Given the description of an element on the screen output the (x, y) to click on. 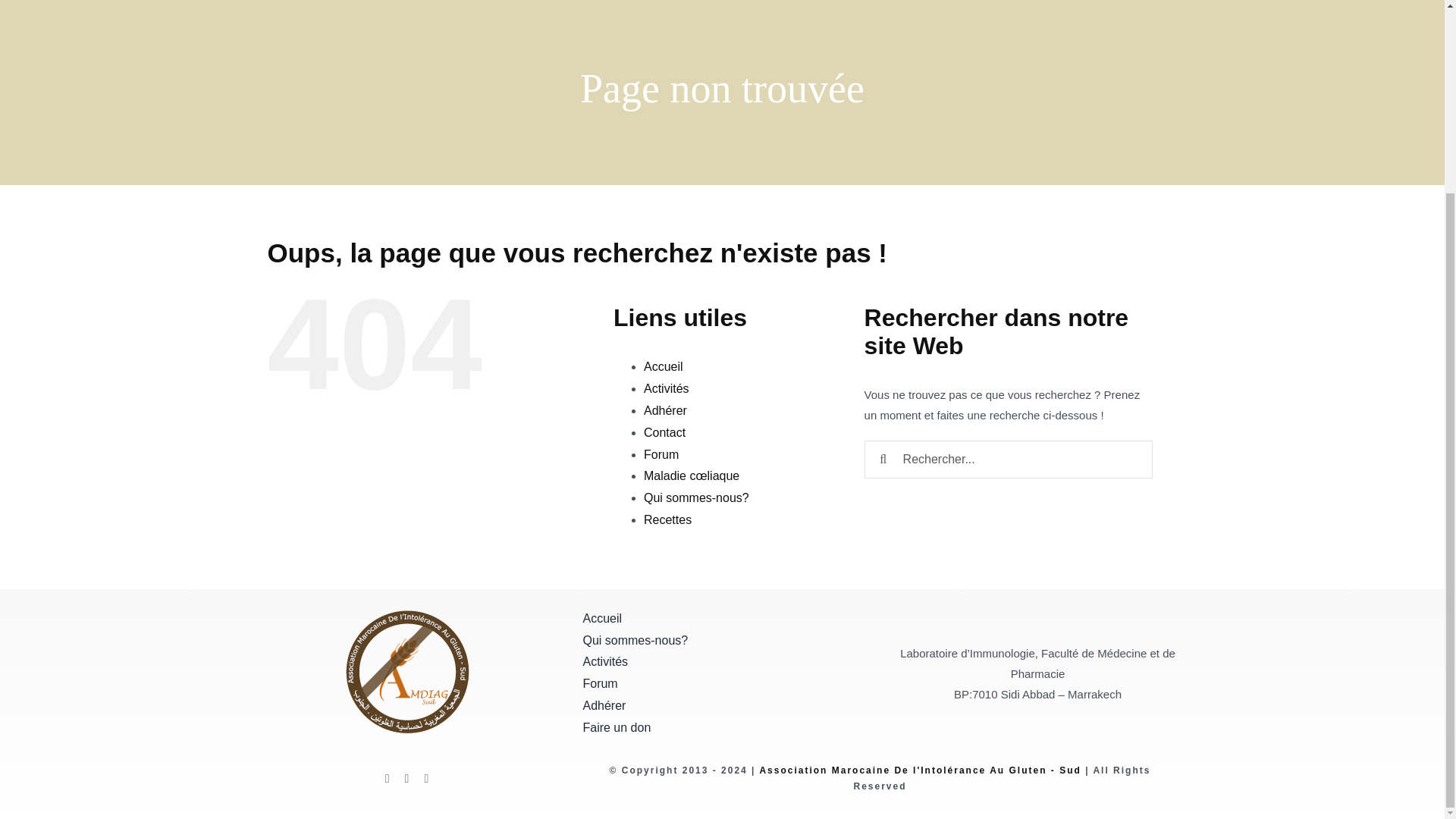
Accueil (662, 366)
Accueil (721, 618)
Instagram (425, 778)
Contact (664, 431)
Forum (660, 454)
Forum (721, 684)
X (406, 778)
Qui sommes-nous? (696, 497)
Qui sommes-nous? (721, 640)
Recettes (667, 519)
Facebook (387, 778)
Faire un don (721, 728)
